Given the description of an element on the screen output the (x, y) to click on. 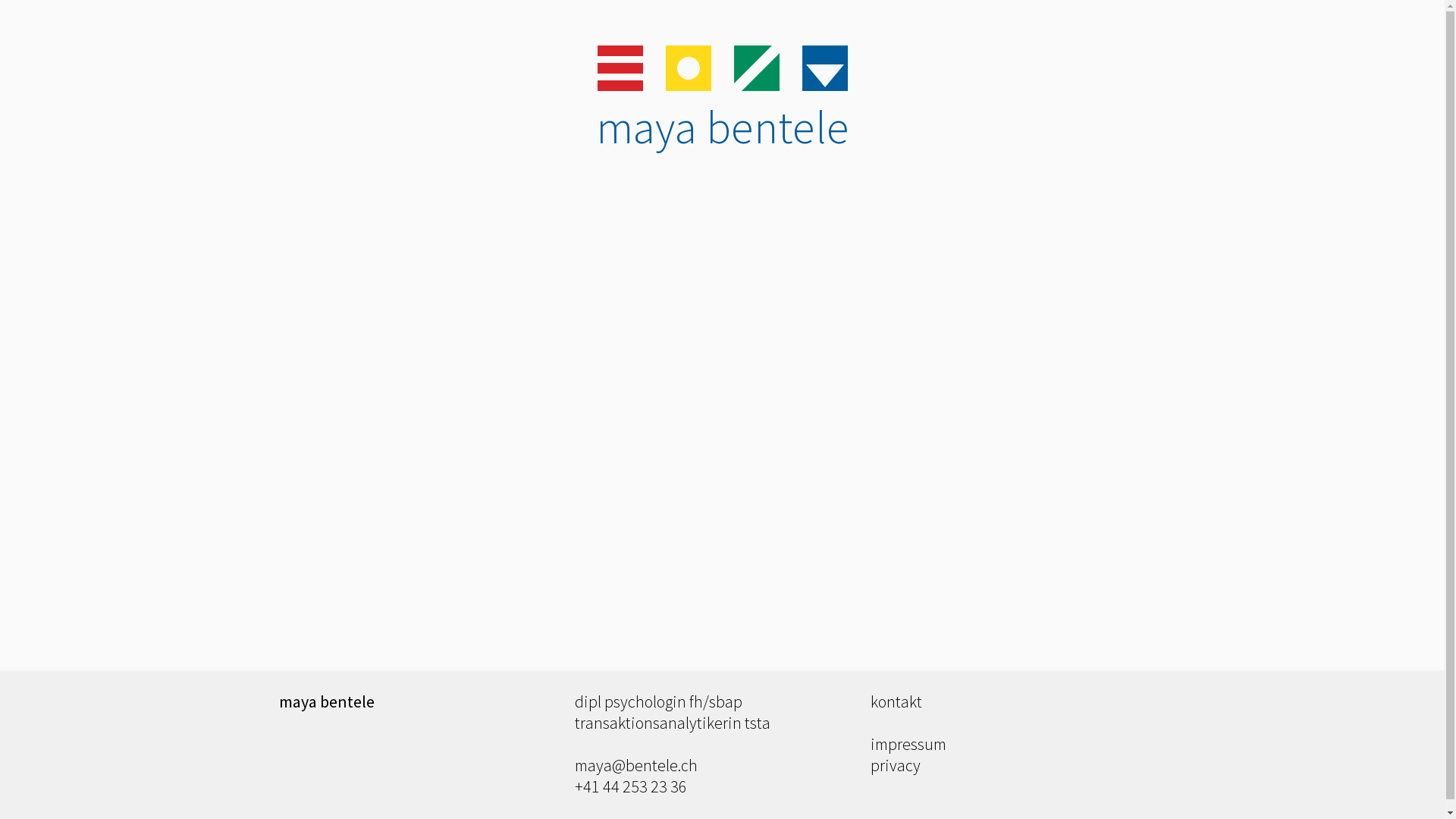
privacy Element type: text (895, 764)
+41 44 253 23 36 Element type: text (630, 786)
kontakt Element type: text (896, 701)
maya@bentele.ch Element type: text (635, 764)
impressum Element type: text (908, 743)
